Given the description of an element on the screen output the (x, y) to click on. 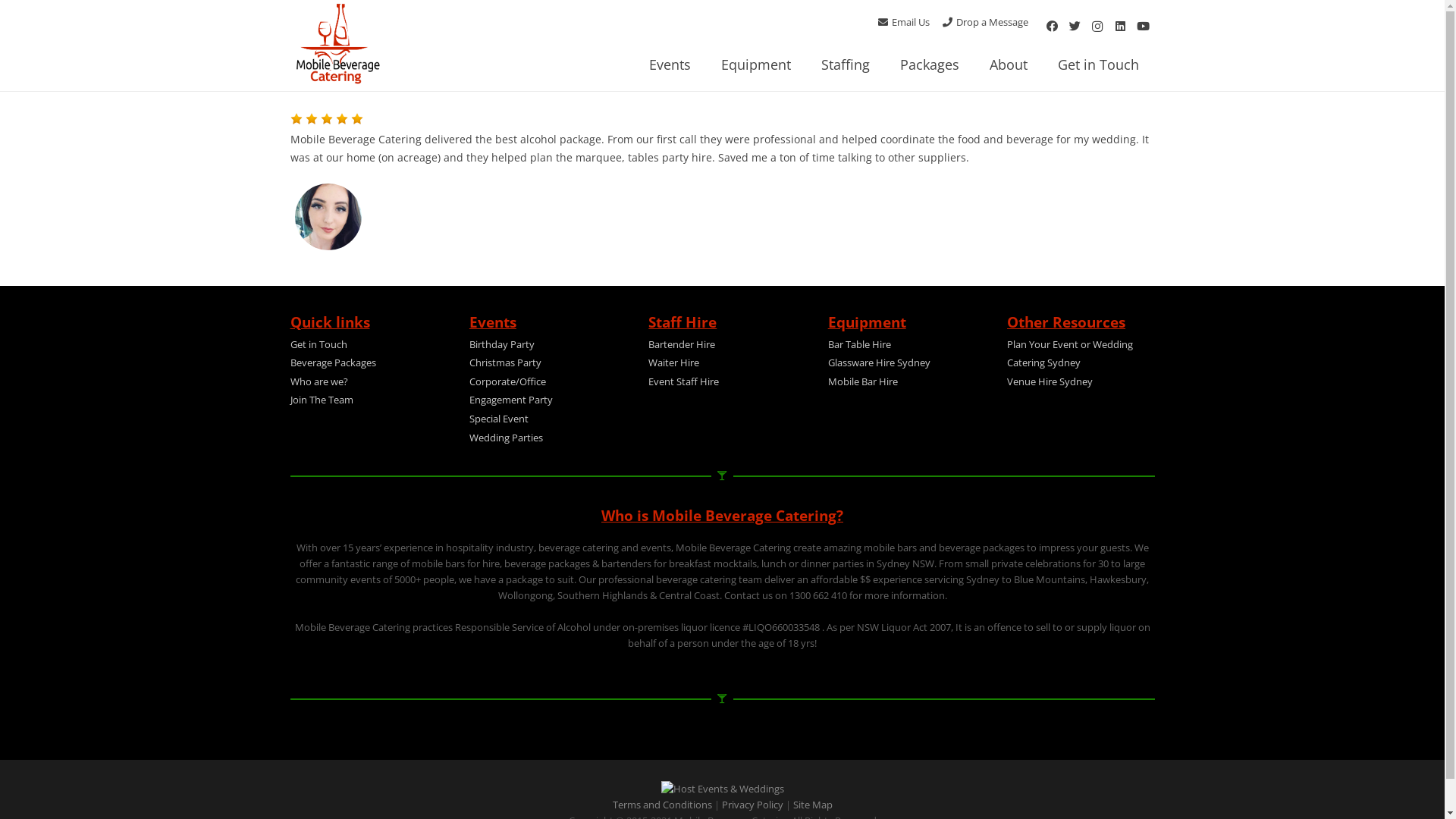
Plan Your Event or Wedding Element type: text (1069, 344)
Instagram Element type: hover (1096, 26)
Facebook Element type: hover (1051, 26)
Equipment Element type: text (756, 64)
Engagement Party Element type: text (510, 399)
Packages Element type: text (929, 64)
Get in Touch Element type: text (317, 344)
LinkedIn Element type: hover (1119, 26)
Waiter Hire Element type: text (673, 362)
Who are we? Element type: text (318, 381)
Staffing Element type: text (845, 64)
Mobile Bar Hire Element type: text (862, 381)
gorgeous Element type: hover (326, 118)
About Element type: text (1008, 64)
gorgeous Element type: hover (310, 118)
Terms and Conditions Element type: text (662, 804)
Birthday Party Element type: text (501, 344)
Bartender Hire Element type: text (681, 344)
Christmas Party Element type: text (505, 362)
Twitter Element type: hover (1074, 26)
Catering Sydney Element type: text (1043, 362)
Beverage Packages Element type: text (332, 362)
YouTube Element type: hover (1142, 26)
Wedding Parties Element type: text (505, 437)
Get in Touch Element type: text (1098, 64)
Venue Hire Sydney Element type: text (1049, 381)
Special Event Element type: text (498, 418)
gorgeous Element type: hover (327, 121)
gorgeous Element type: hover (356, 118)
Bar Table Hire Element type: text (859, 344)
gorgeous Element type: hover (295, 118)
Glassware Hire Sydney Element type: text (879, 362)
Events Element type: text (669, 64)
Site Map Element type: text (812, 804)
Corporate/Office Element type: text (507, 381)
Privacy Policy Element type: text (752, 804)
gorgeous Element type: hover (341, 118)
Event Staff Hire Element type: text (683, 381)
Join The Team Element type: text (320, 399)
